Given the description of an element on the screen output the (x, y) to click on. 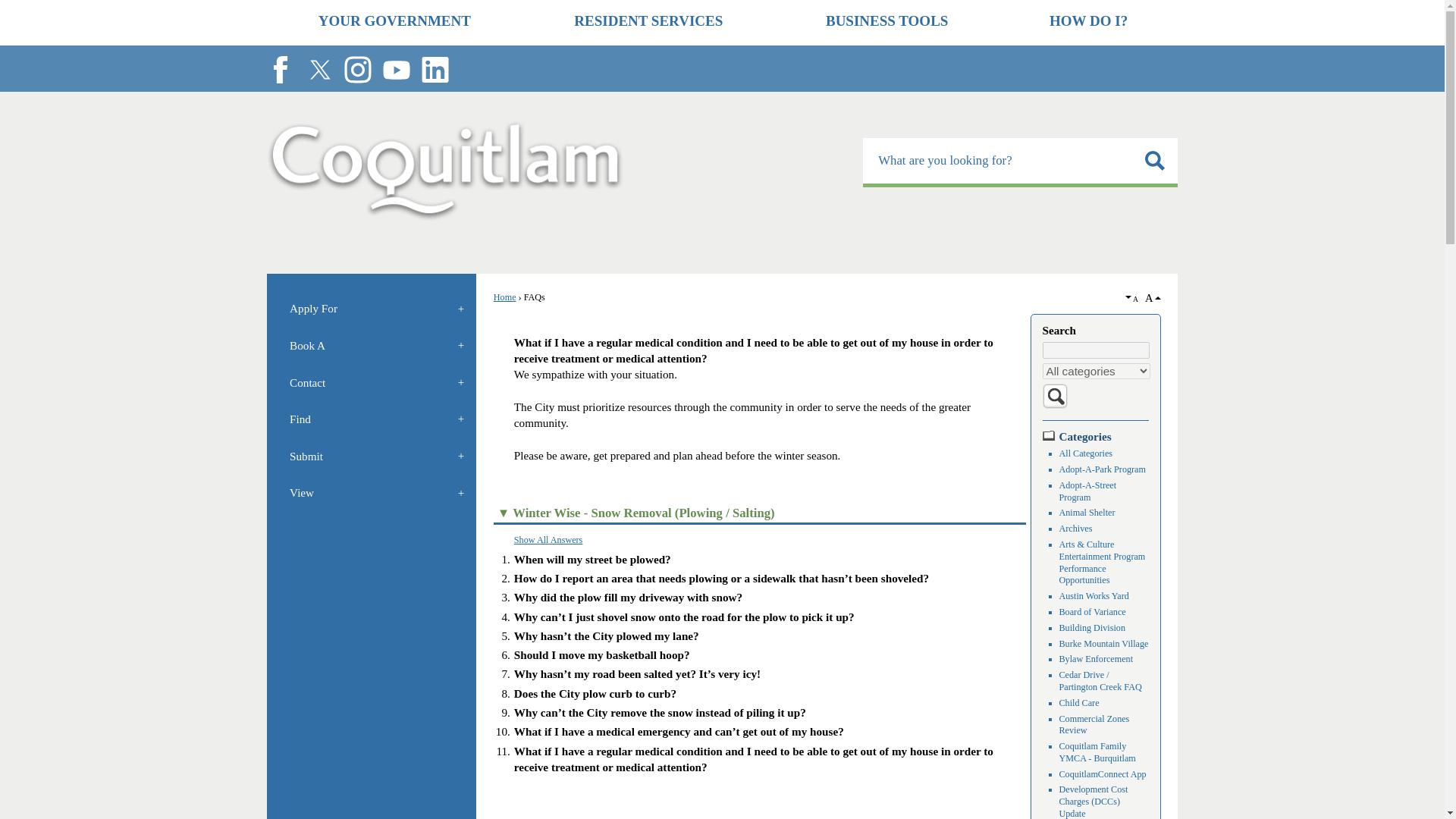
Facebook (280, 69)
Skip to Main Content (6, 6)
Home (504, 296)
Adopt-A-Street Program (1087, 490)
LinkedIn (435, 69)
YOUR GOVERNMENT (394, 22)
A (1132, 298)
Make text smaller (1132, 298)
BUSINESS TOOLS (886, 22)
Does the City plow curb to curb? (595, 693)
Make text bigger (1151, 297)
Search terms (1096, 350)
All Categories (1086, 452)
Animal Shelter (1087, 511)
When will my street be plowed? (592, 558)
